Given the description of an element on the screen output the (x, y) to click on. 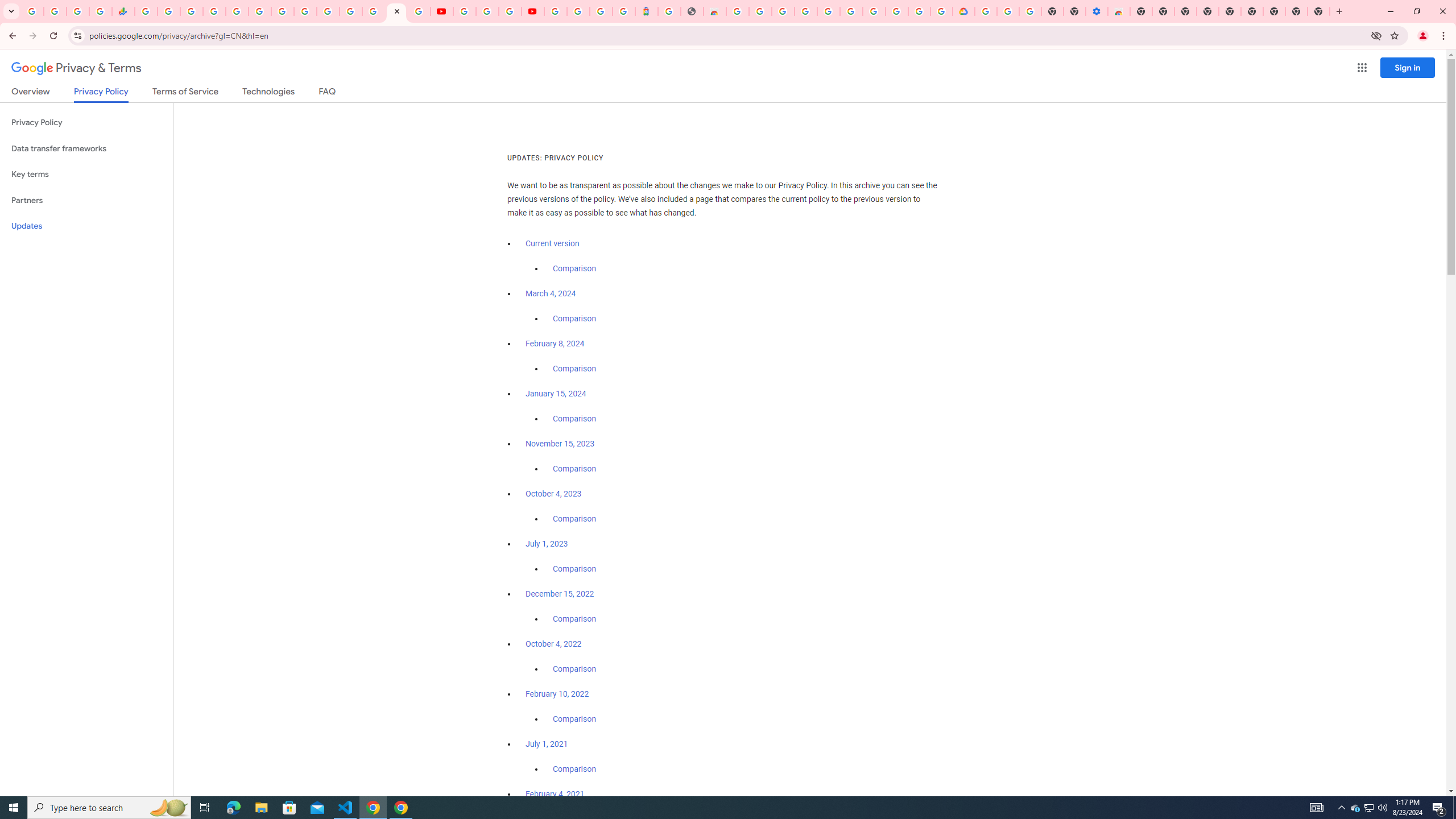
Create your Google Account (760, 11)
Sign in - Google Accounts (985, 11)
Create your Google Account (919, 11)
New Tab (1319, 11)
Google Account Help (874, 11)
February 8, 2024 (555, 343)
